Given the description of an element on the screen output the (x, y) to click on. 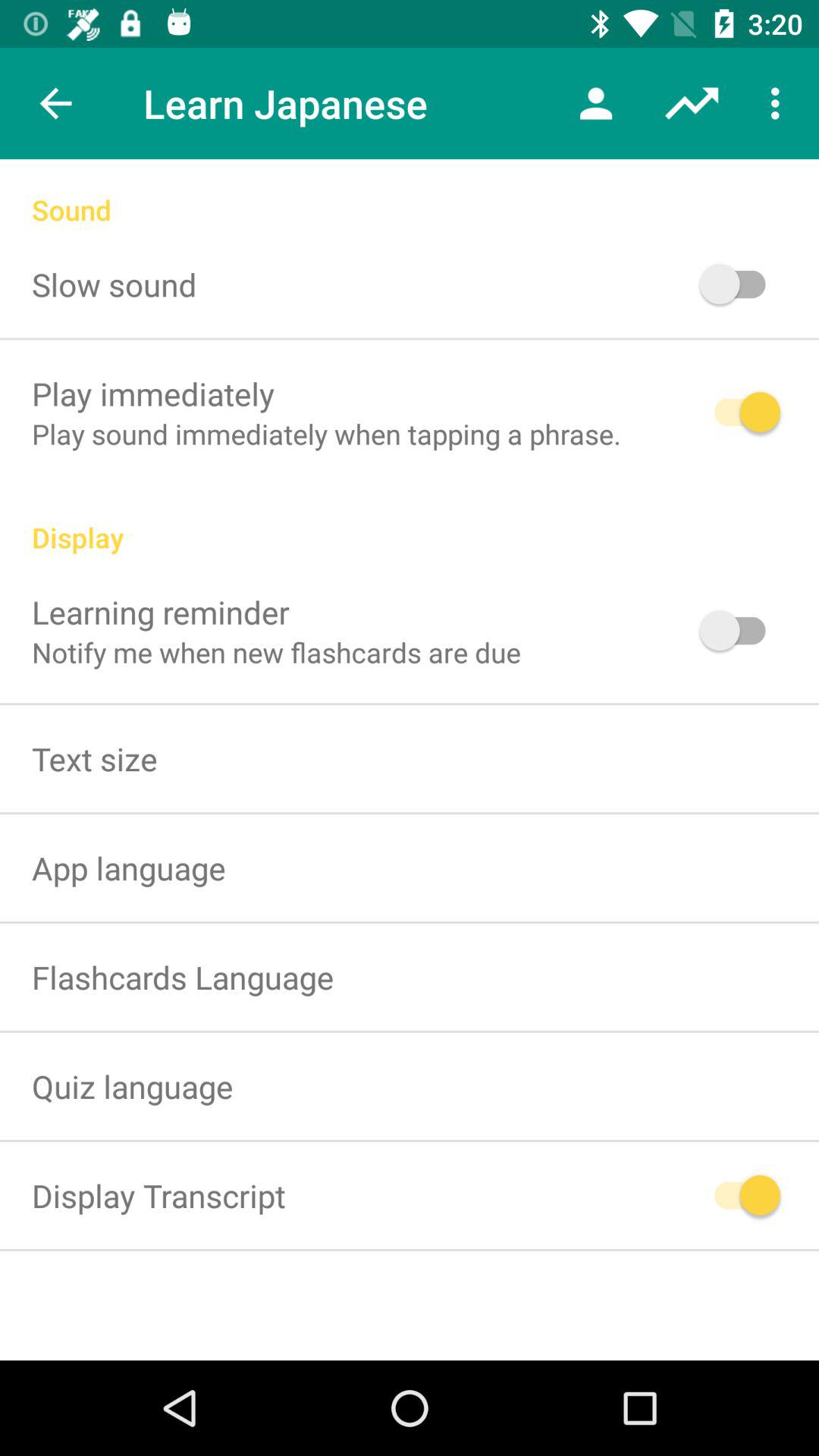
select the first icon adjacent right side of learn japanese (595, 103)
